Given the description of an element on the screen output the (x, y) to click on. 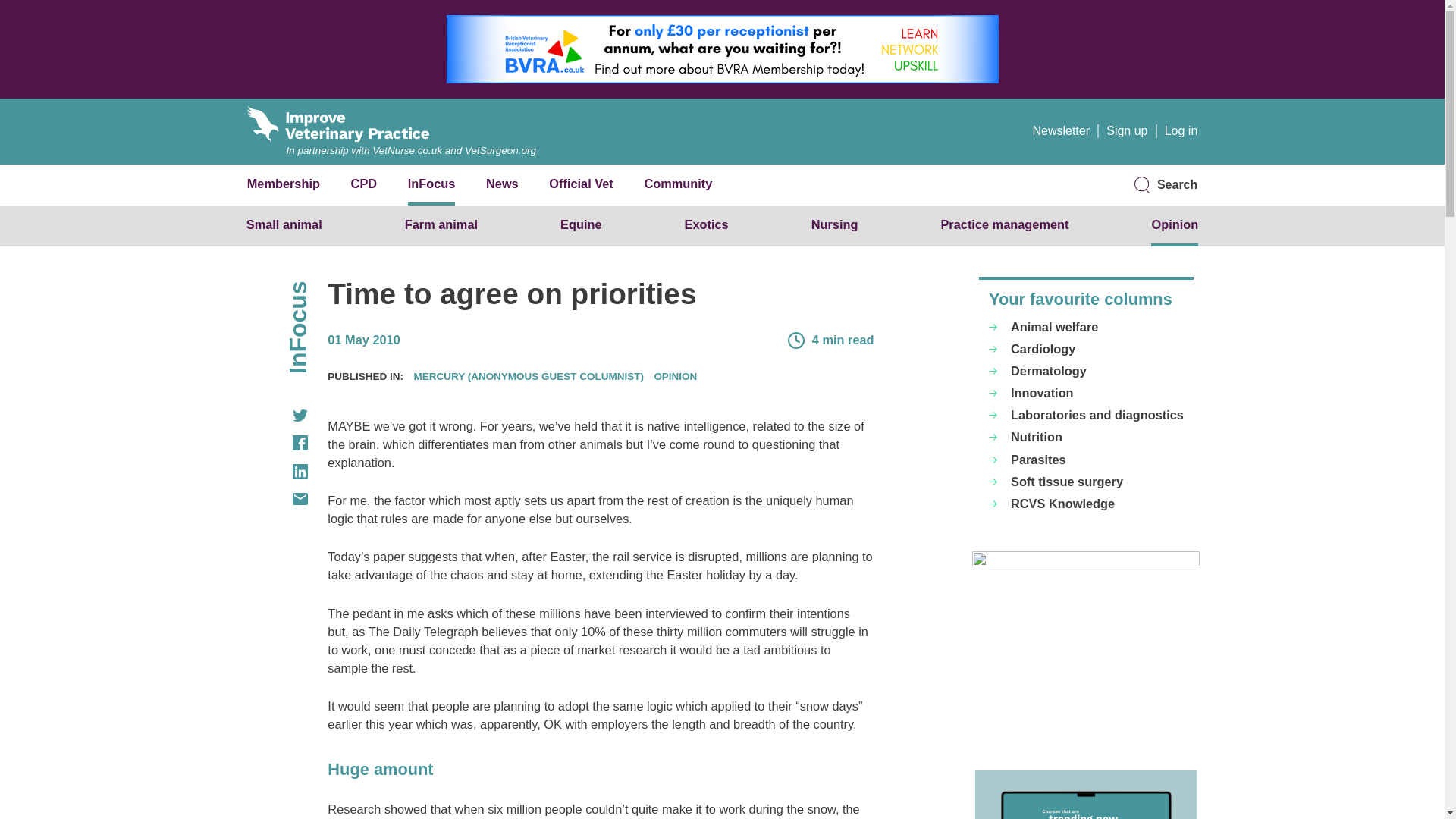
Cardiology (1085, 349)
Equine (580, 223)
Practice management (1004, 223)
Official Vet (580, 183)
Opinion (1174, 223)
Nursing (834, 223)
Share on Facebook (277, 442)
Log in (1181, 130)
Share on LinkedIn (277, 471)
InFocus (431, 183)
CPD (363, 183)
OPINION (675, 376)
Community (677, 183)
Farm animal (440, 223)
Membership (283, 183)
